Given the description of an element on the screen output the (x, y) to click on. 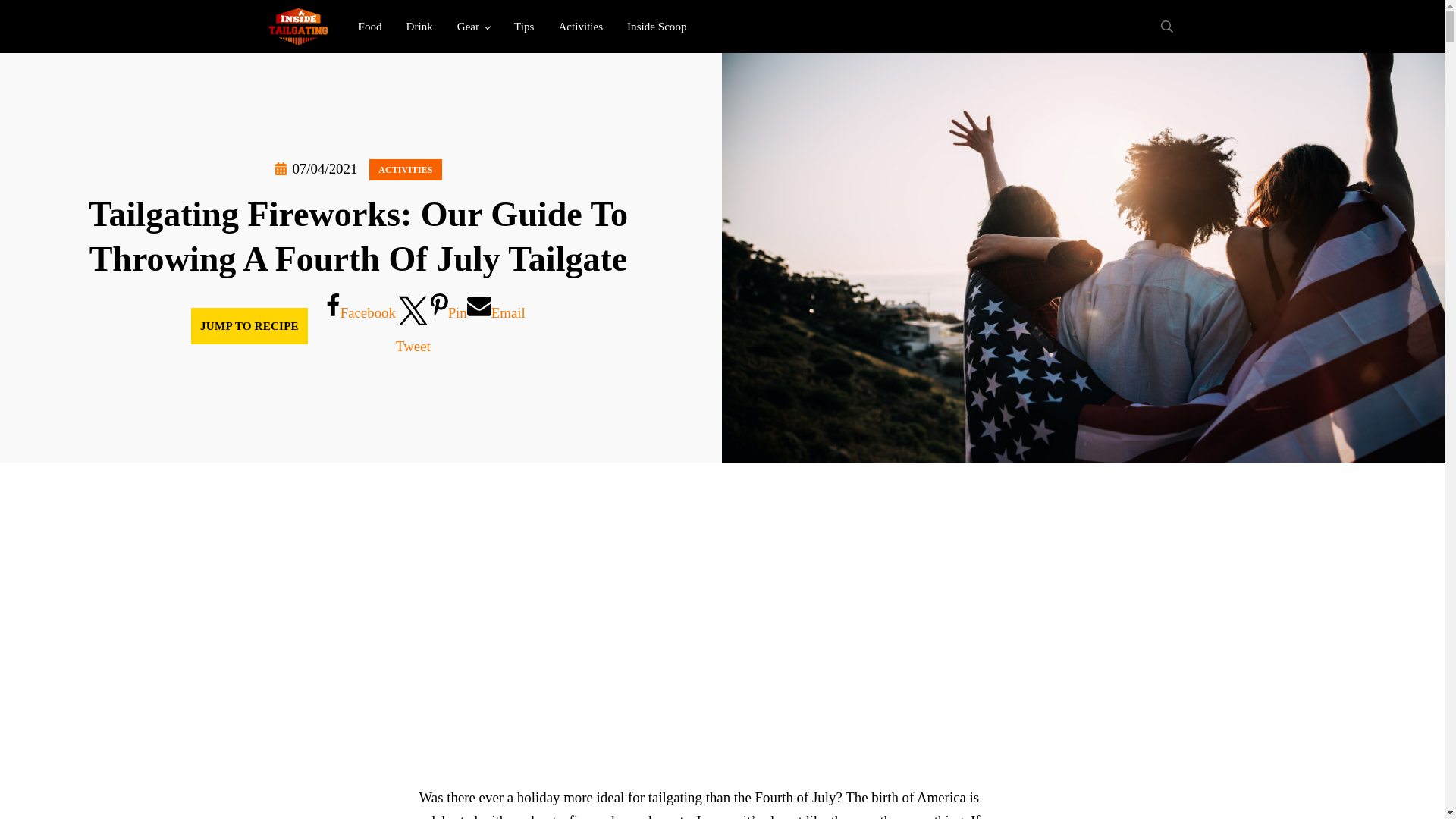
Food (369, 26)
Tips (524, 26)
Drink (419, 26)
Activities (580, 26)
ACTIVITIES (405, 169)
JUMP TO RECIPE (248, 325)
Email (496, 325)
Email (496, 325)
Facebook (361, 325)
Share on Facebook (361, 325)
Gear (473, 26)
Share via Email (496, 325)
Inside Scoop (656, 26)
